Given the description of an element on the screen output the (x, y) to click on. 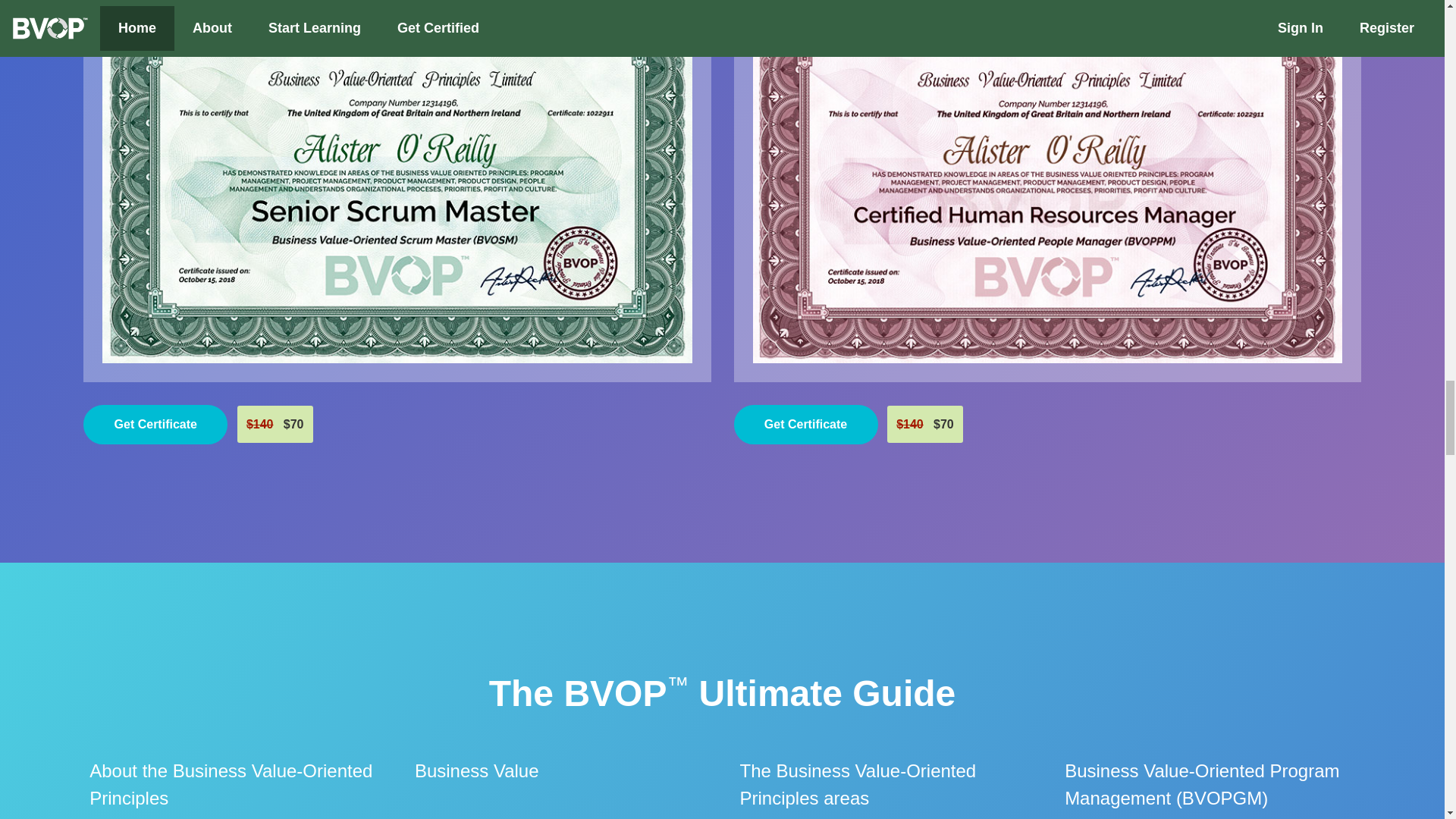
About the Business Value-Oriented Principles (233, 784)
Business Value (476, 771)
The Business Value-Oriented Principles areas (884, 784)
